Given the description of an element on the screen output the (x, y) to click on. 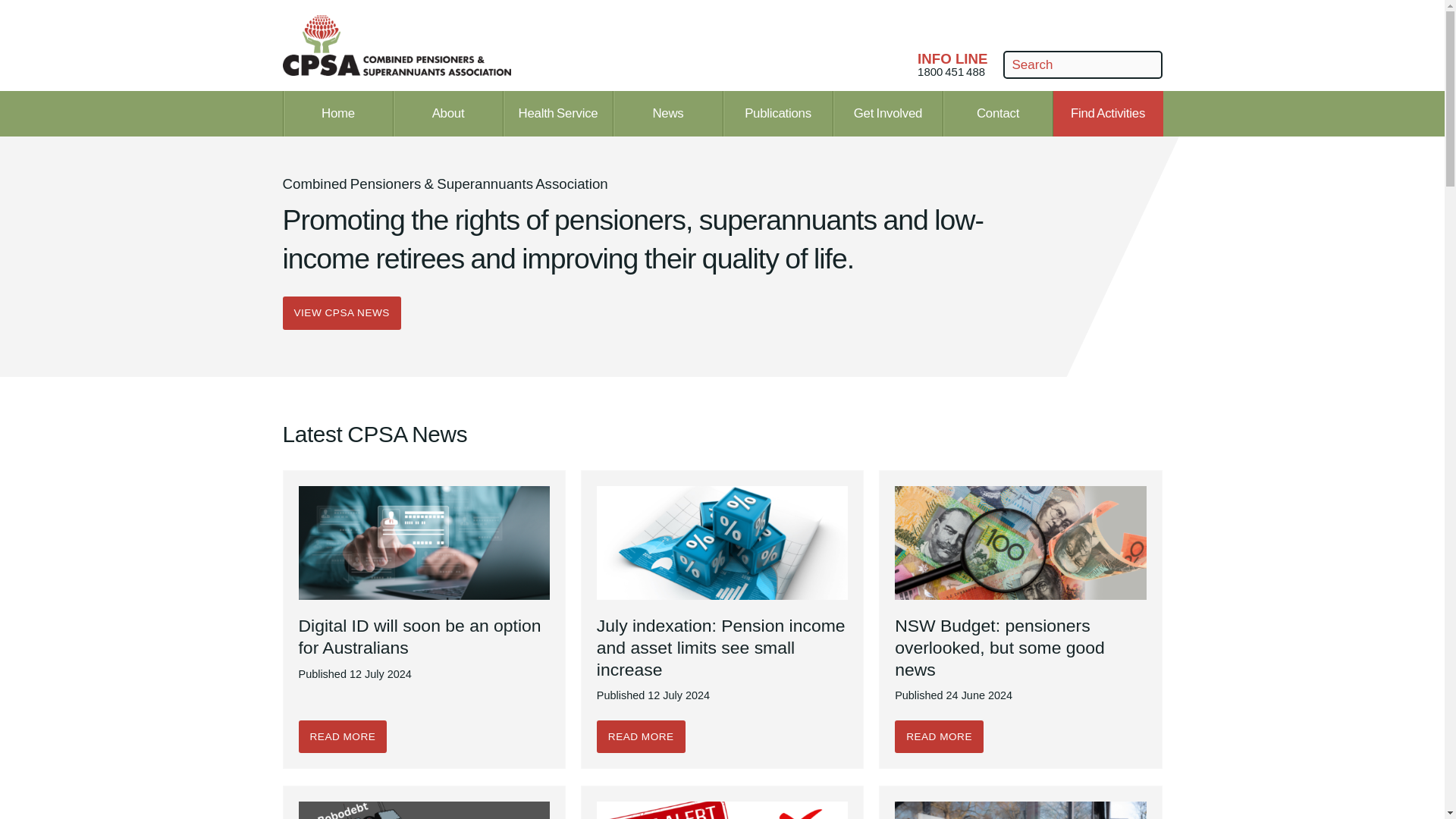
VIEW CPSA NEWS (341, 313)
Find Activities (1106, 113)
Home (337, 113)
Health Service (952, 64)
Contact (557, 113)
News (997, 113)
Get Involved (668, 113)
Publications (888, 113)
